Given the description of an element on the screen output the (x, y) to click on. 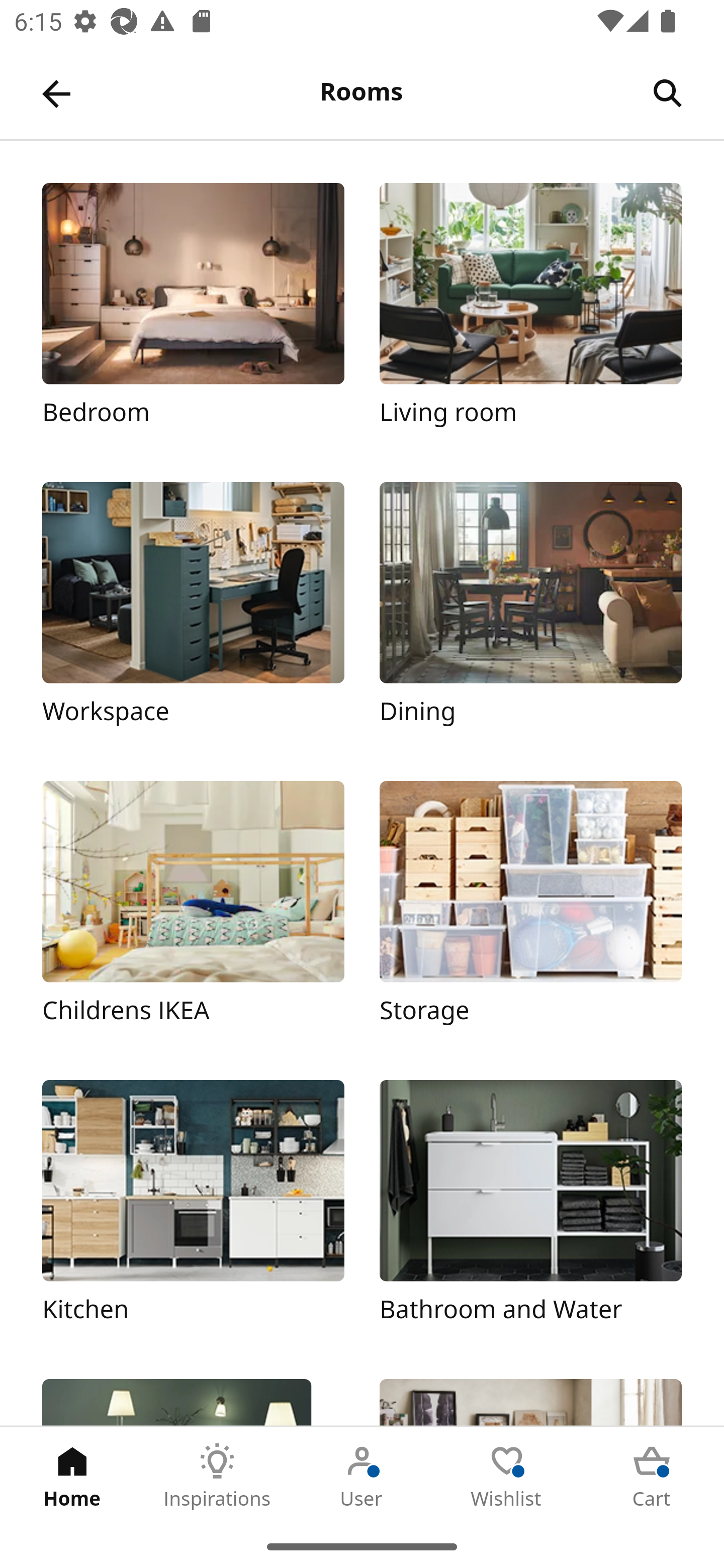
Bedroom (192, 314)
Living room (530, 314)
Workspace (192, 613)
Dining (530, 613)
Childrens IKEA (192, 912)
Storage (530, 912)
Kitchen (192, 1211)
Bathroom and Water (530, 1211)
Home
Tab 1 of 5 (72, 1476)
Inspirations
Tab 2 of 5 (216, 1476)
User
Tab 3 of 5 (361, 1476)
Wishlist
Tab 4 of 5 (506, 1476)
Cart
Tab 5 of 5 (651, 1476)
